Given the description of an element on the screen output the (x, y) to click on. 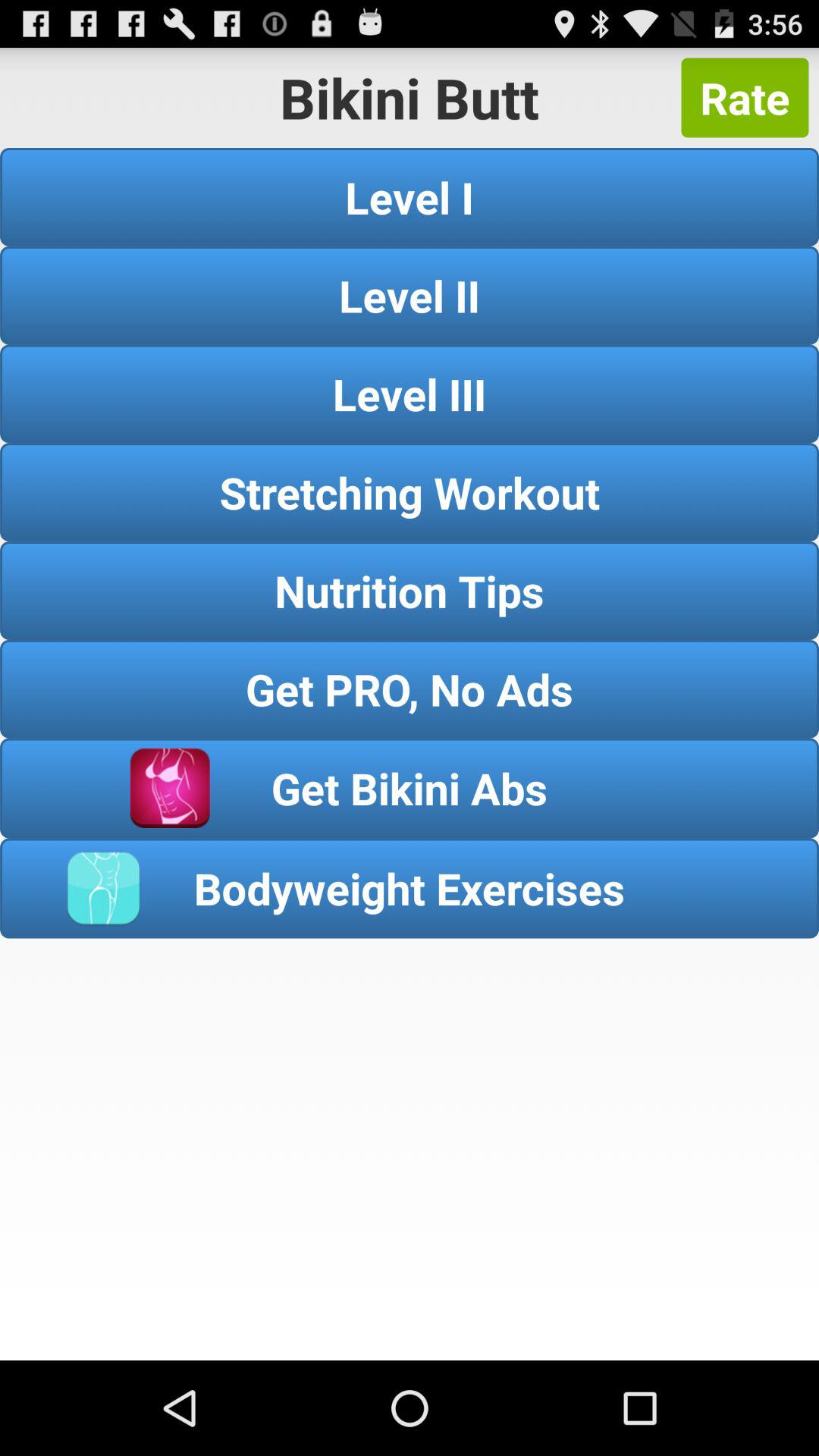
launch the item above the stretching workout item (409, 393)
